Given the description of an element on the screen output the (x, y) to click on. 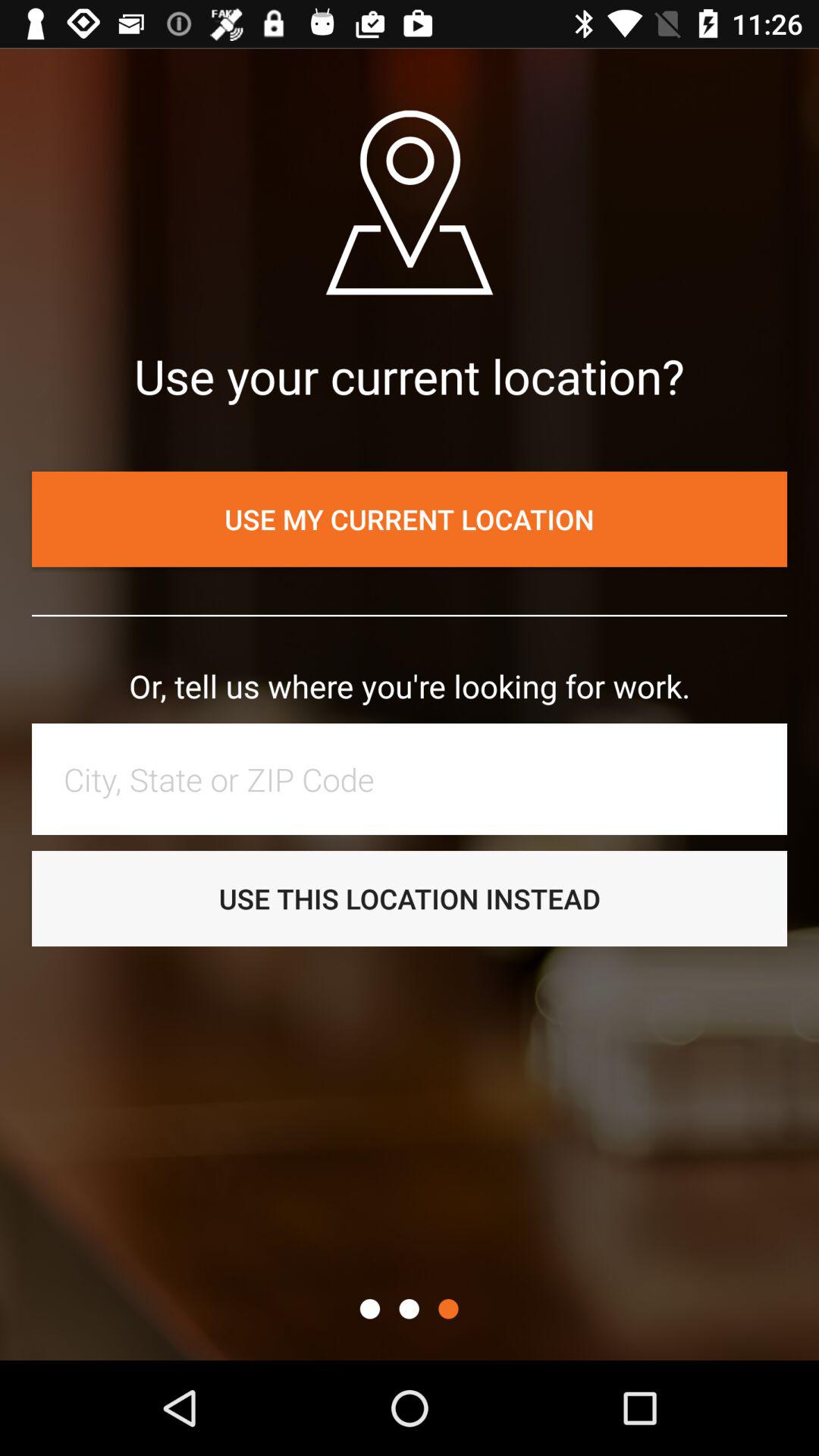
open the icon above use this location (417, 778)
